Given the description of an element on the screen output the (x, y) to click on. 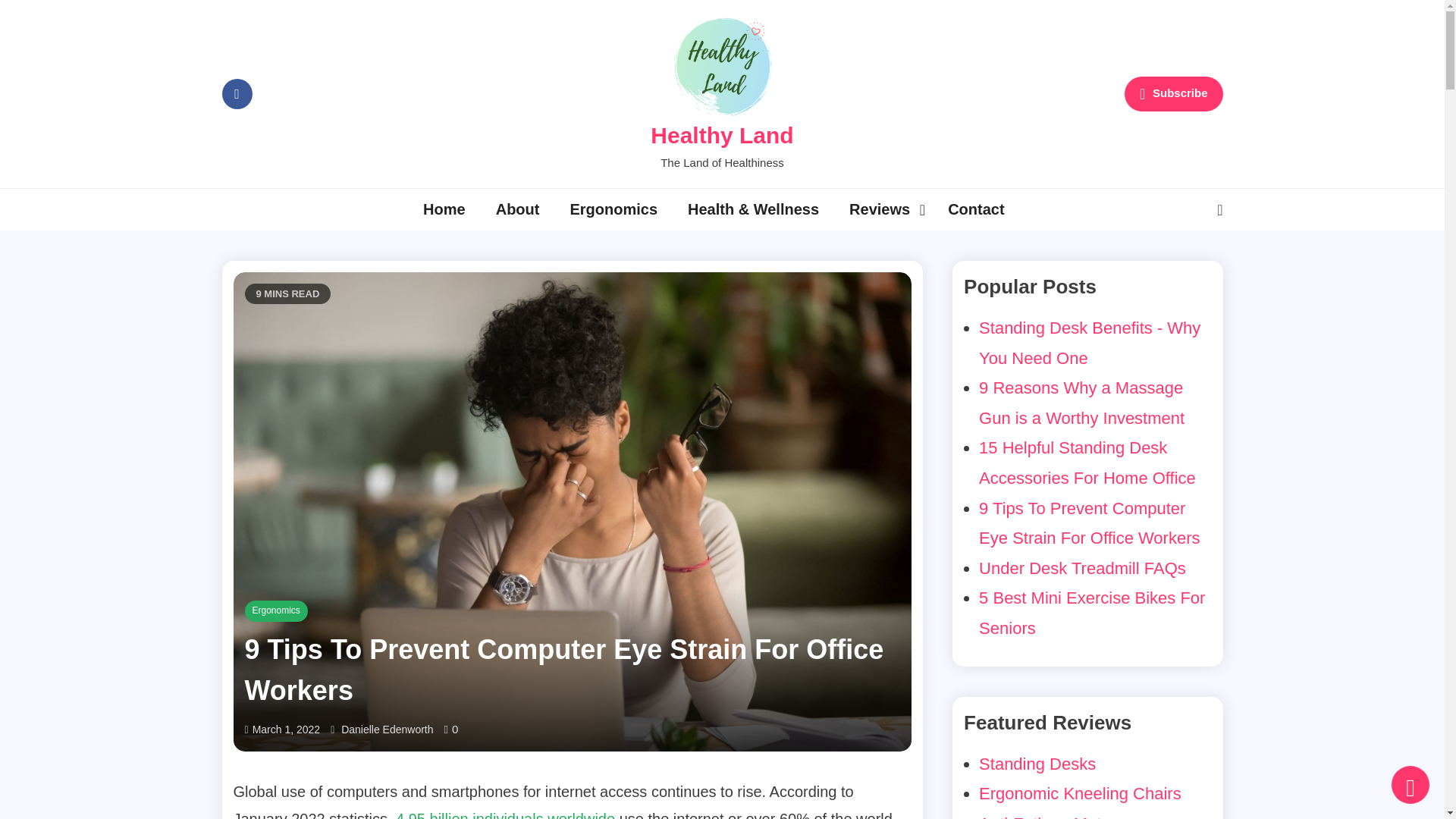
4.95 billion individuals worldwide (505, 814)
Contact (976, 209)
Subscribe (1173, 93)
March 1, 2022 (285, 729)
Search (1180, 267)
Ergonomics (275, 610)
About (517, 209)
Home (443, 209)
Danielle Edenworth (386, 729)
Ergonomics (613, 209)
Reviews (883, 209)
Healthy Land (721, 135)
